Given the description of an element on the screen output the (x, y) to click on. 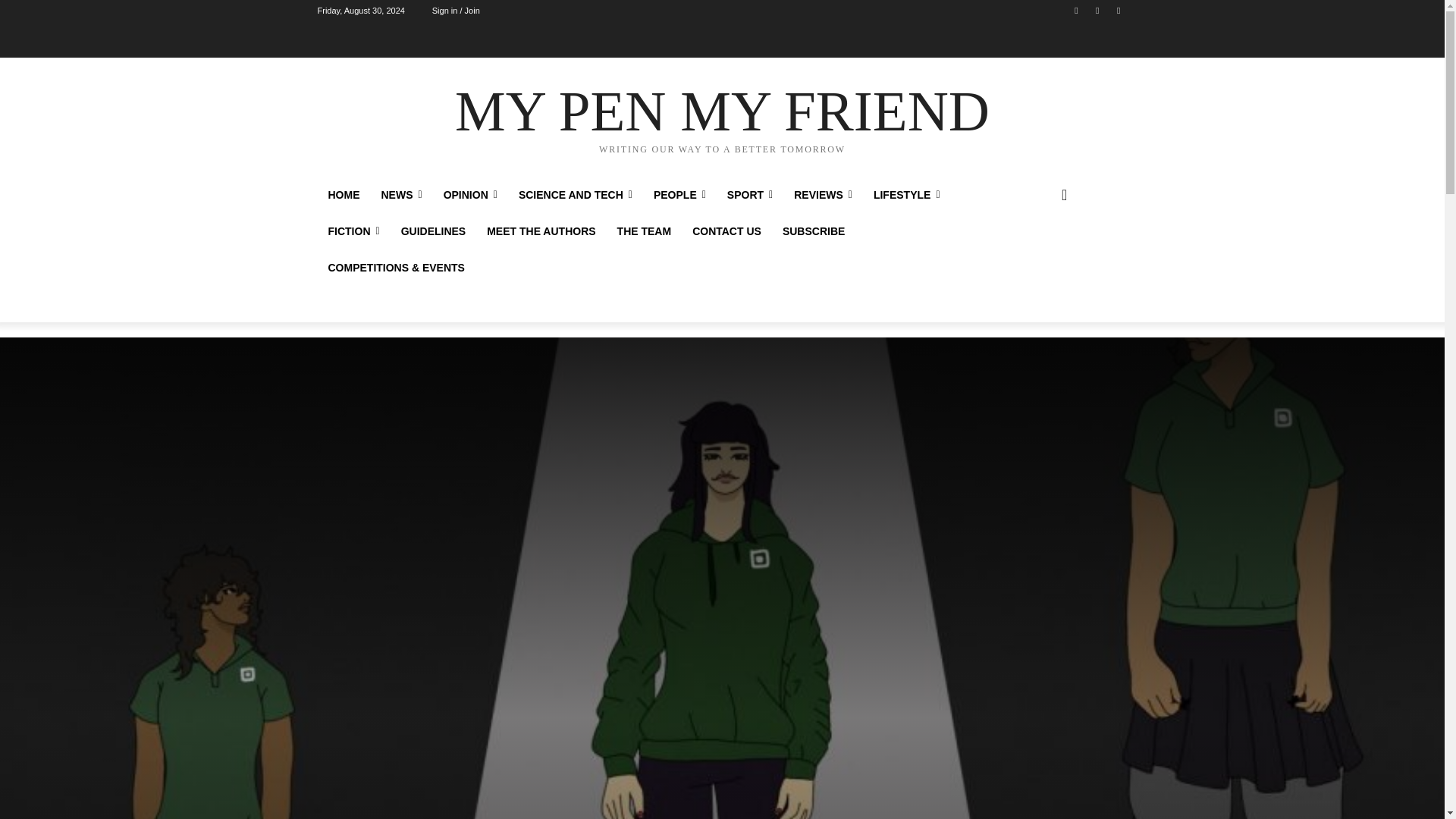
Facebook (1075, 9)
Instagram (1097, 9)
Youtube (1117, 9)
MY PEN MY FRIEND (721, 116)
